Given the description of an element on the screen output the (x, y) to click on. 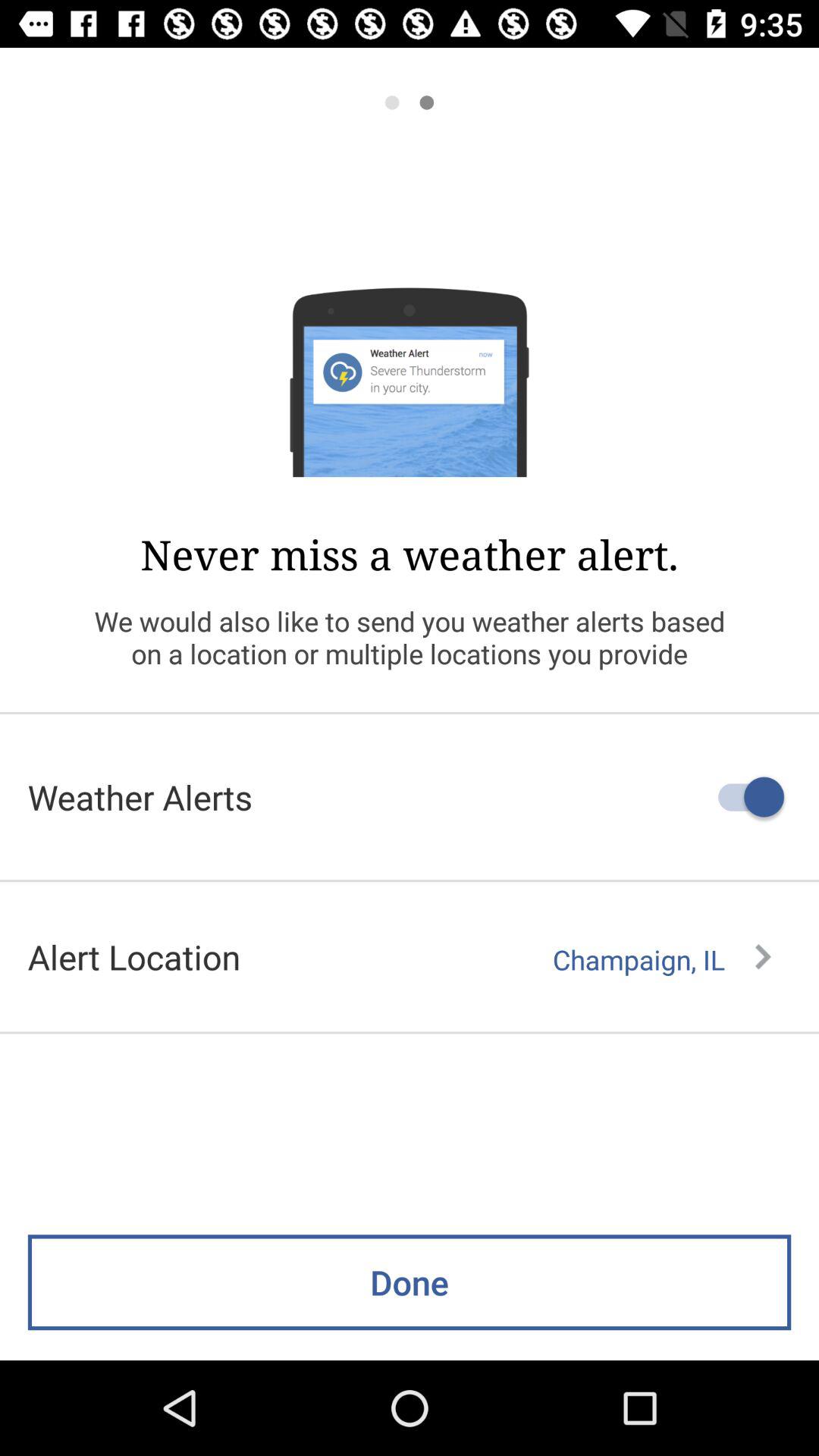
select item to the right of the alert location icon (661, 959)
